Given the description of an element on the screen output the (x, y) to click on. 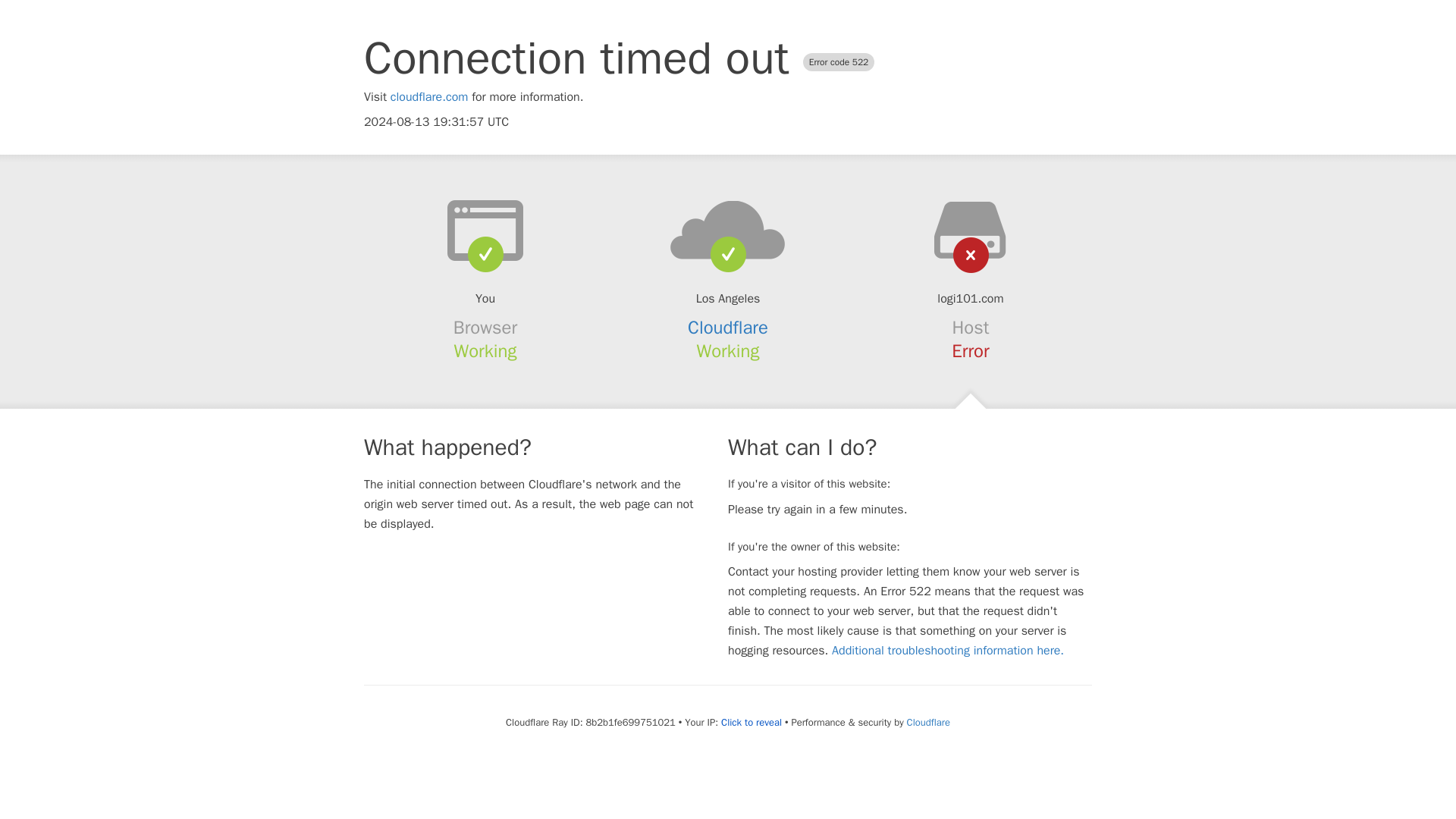
Cloudflare (928, 721)
Click to reveal (750, 722)
cloudflare.com (429, 96)
Additional troubleshooting information here. (947, 650)
Cloudflare (727, 327)
